Given the description of an element on the screen output the (x, y) to click on. 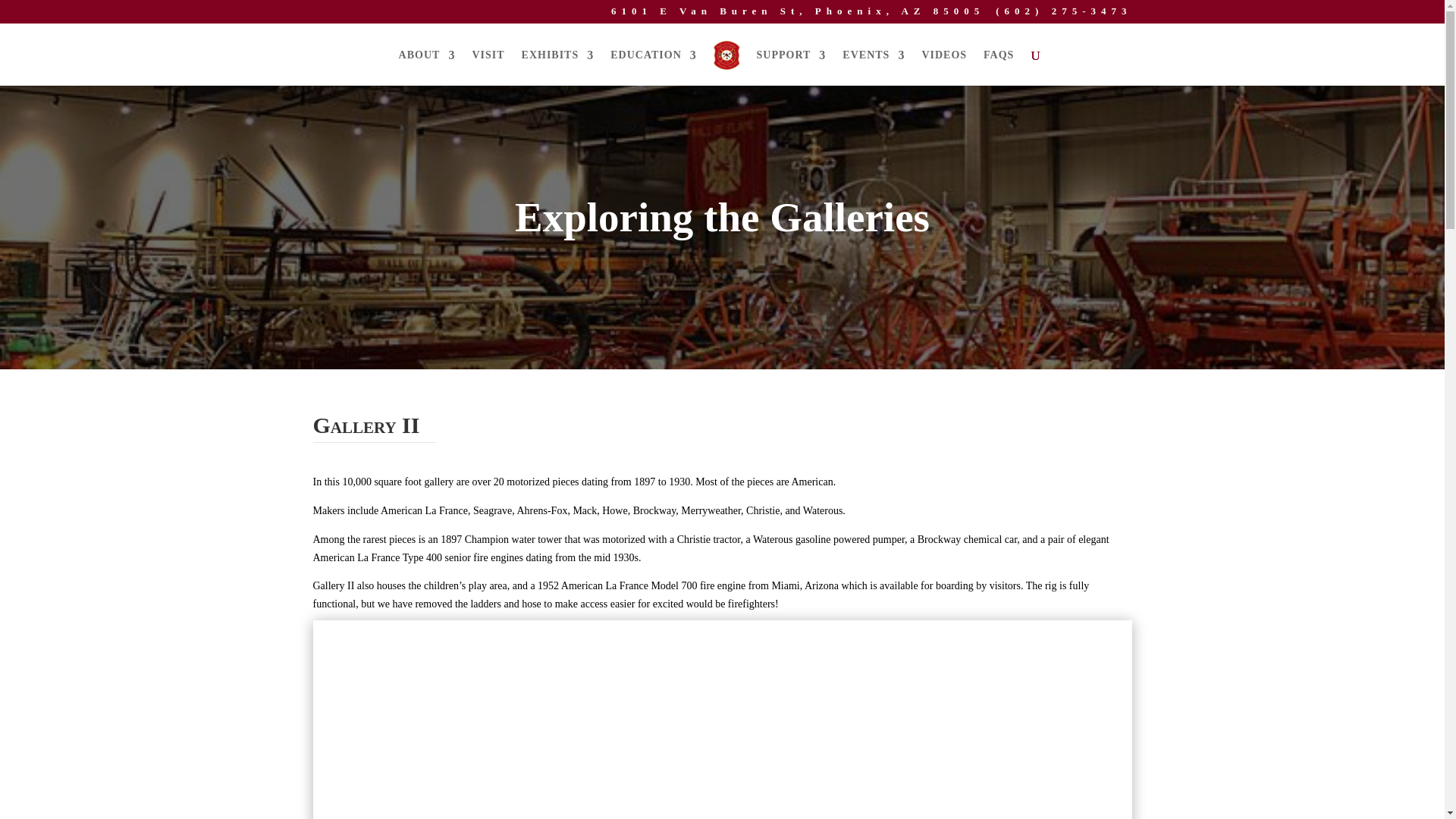
SUPPORT (792, 67)
VISIT (487, 67)
ABOUT (426, 67)
EDUCATION (653, 67)
EXHIBITS (557, 67)
EVENTS (873, 67)
6101 E Van Buren St, Phoenix, AZ 85005 (797, 14)
FAQS (998, 67)
VIDEOS (943, 67)
